Given the description of an element on the screen output the (x, y) to click on. 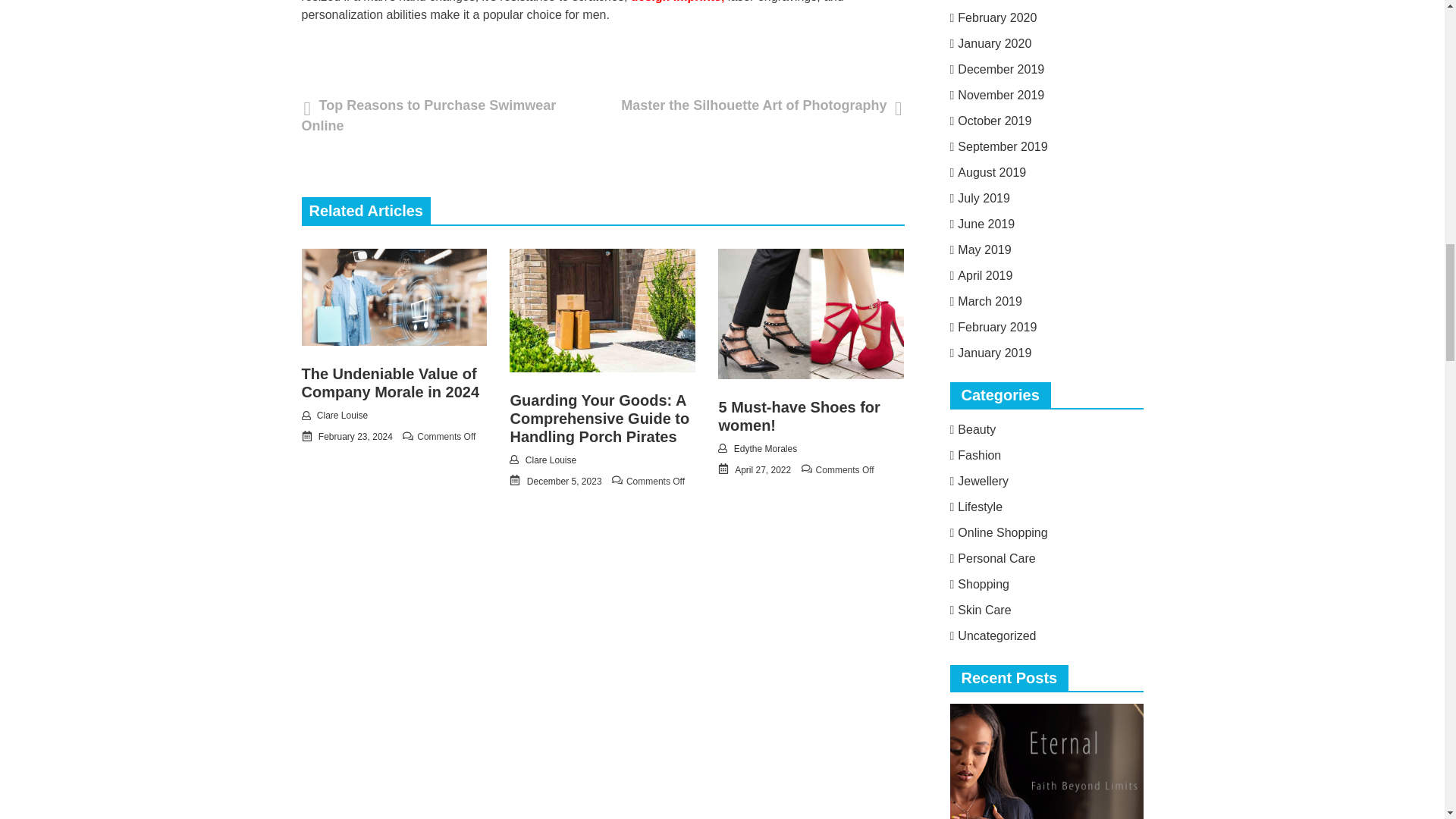
December 5, 2023 (564, 480)
design imprints (675, 1)
The Undeniable Value of Company Morale in 2024 (390, 382)
April 27, 2022 (762, 470)
February 23, 2024 (355, 436)
5 Must-have Shoes for women! (798, 416)
Master the Silhouette Art of Photography (756, 105)
Edythe Morales (764, 448)
Clare Louise (342, 415)
